Given the description of an element on the screen output the (x, y) to click on. 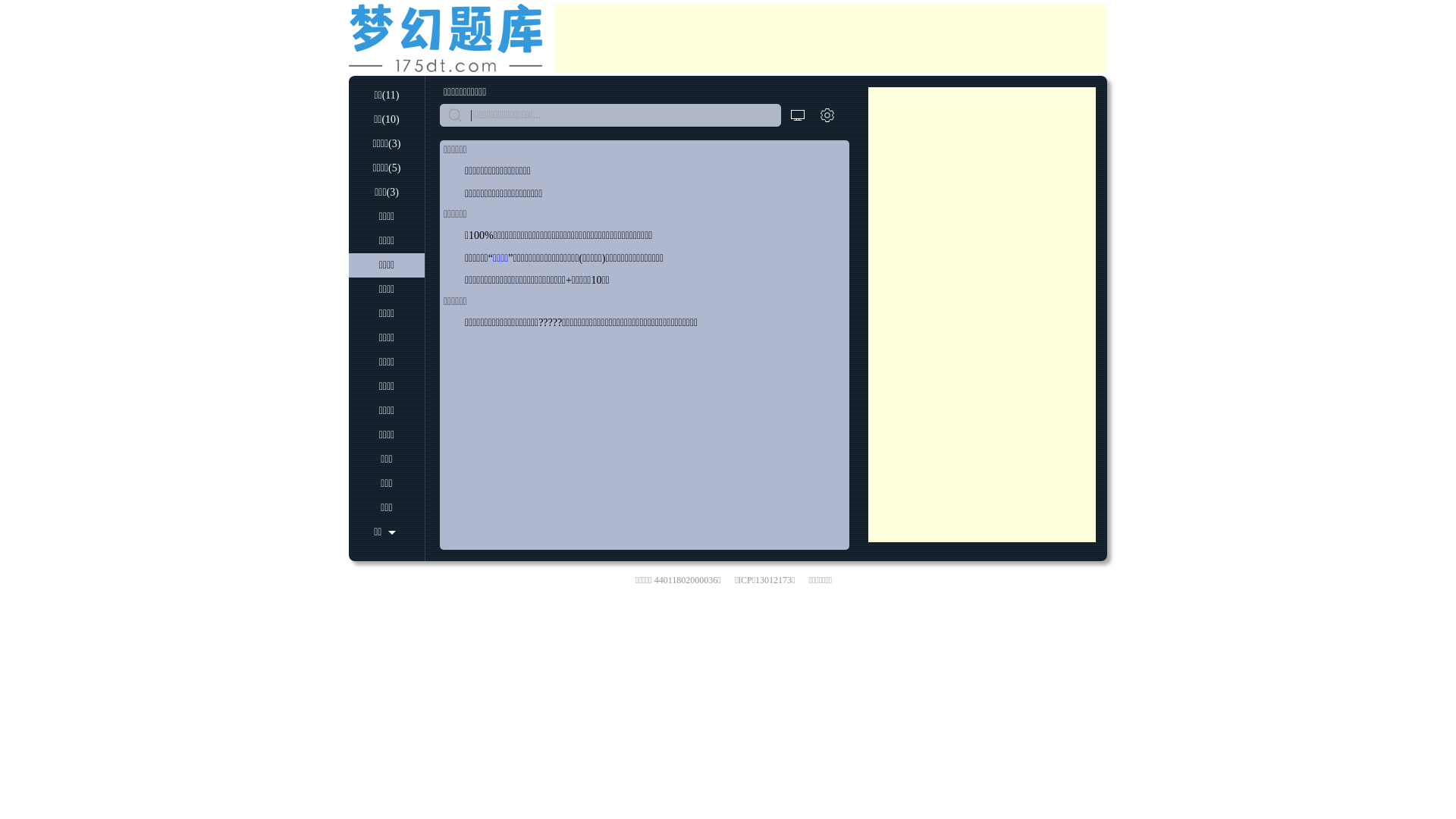
Advertisement Element type: hover (981, 314)
Advertisement Element type: hover (831, 37)
